Given the description of an element on the screen output the (x, y) to click on. 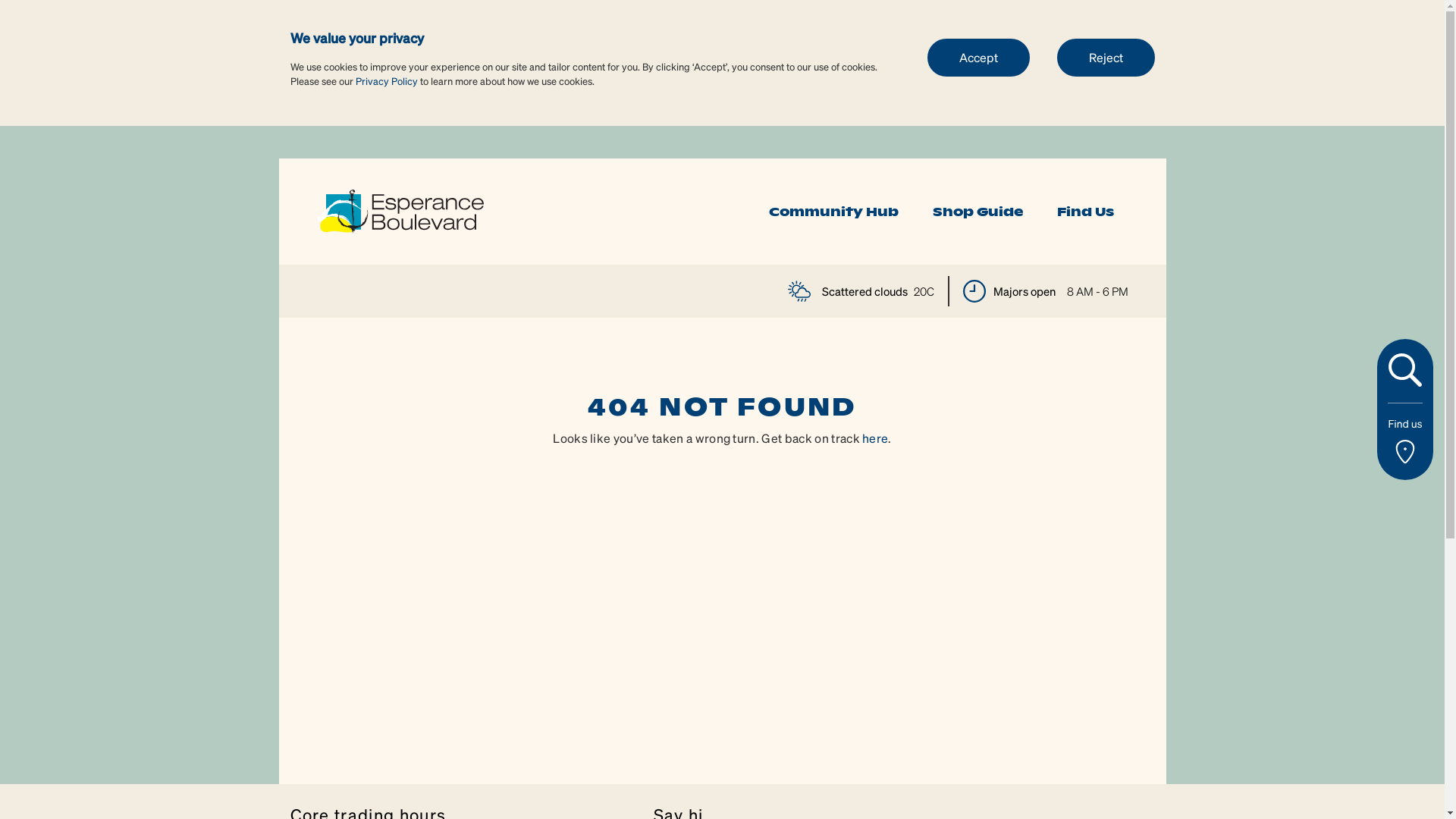
time Element type: hover (974, 290)
majors open
8 AM - 6 PM Element type: text (1045, 290)
Find Us Element type: text (1085, 211)
Accept Element type: text (977, 56)
Shop Guide Element type: text (977, 211)
here Element type: text (875, 437)
Community Hub Element type: text (833, 211)
Reject Element type: text (1105, 56)
Privacy Policy Element type: text (385, 80)
